Given the description of an element on the screen output the (x, y) to click on. 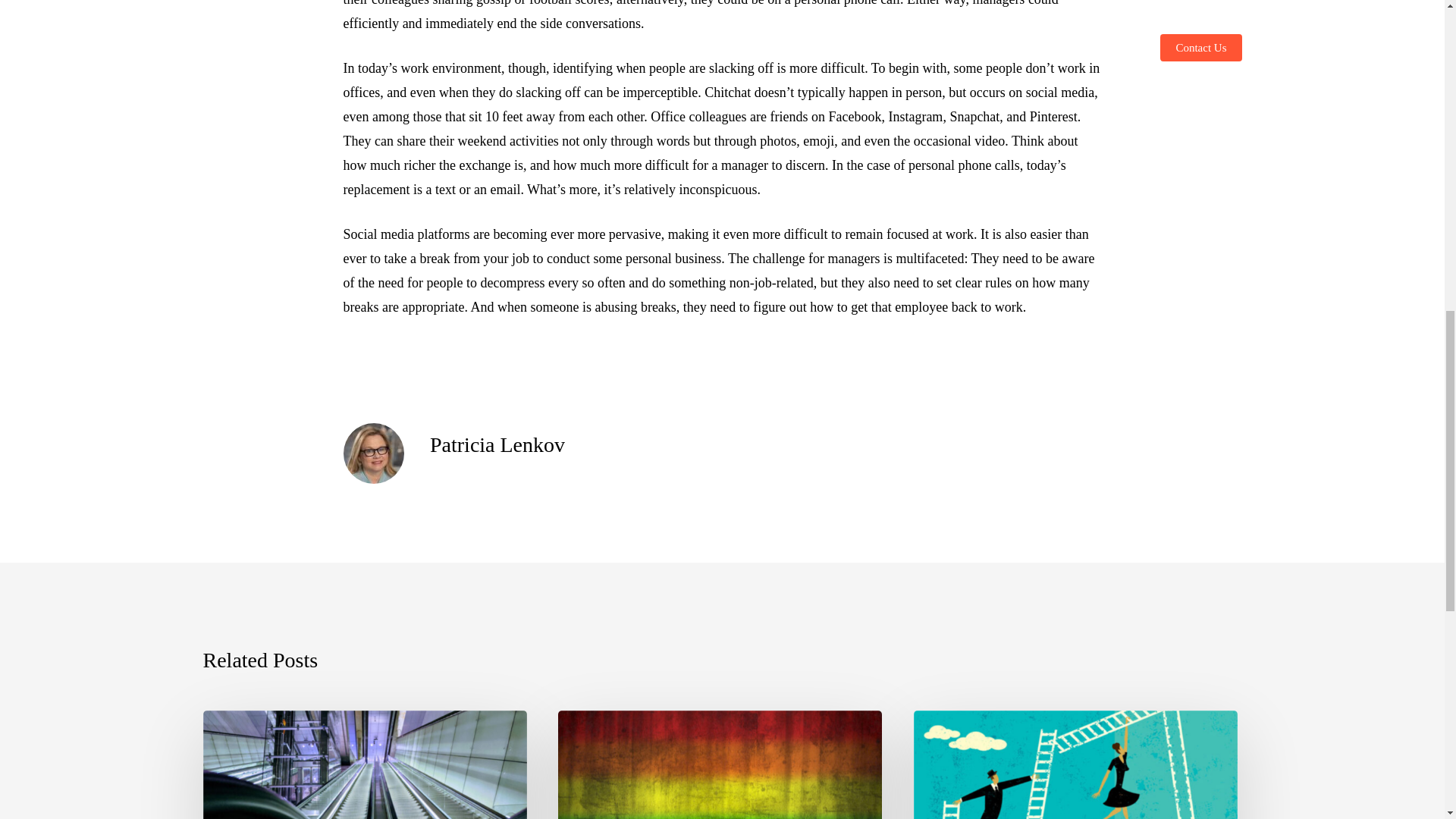
Patricia Lenkov (496, 444)
